Given the description of an element on the screen output the (x, y) to click on. 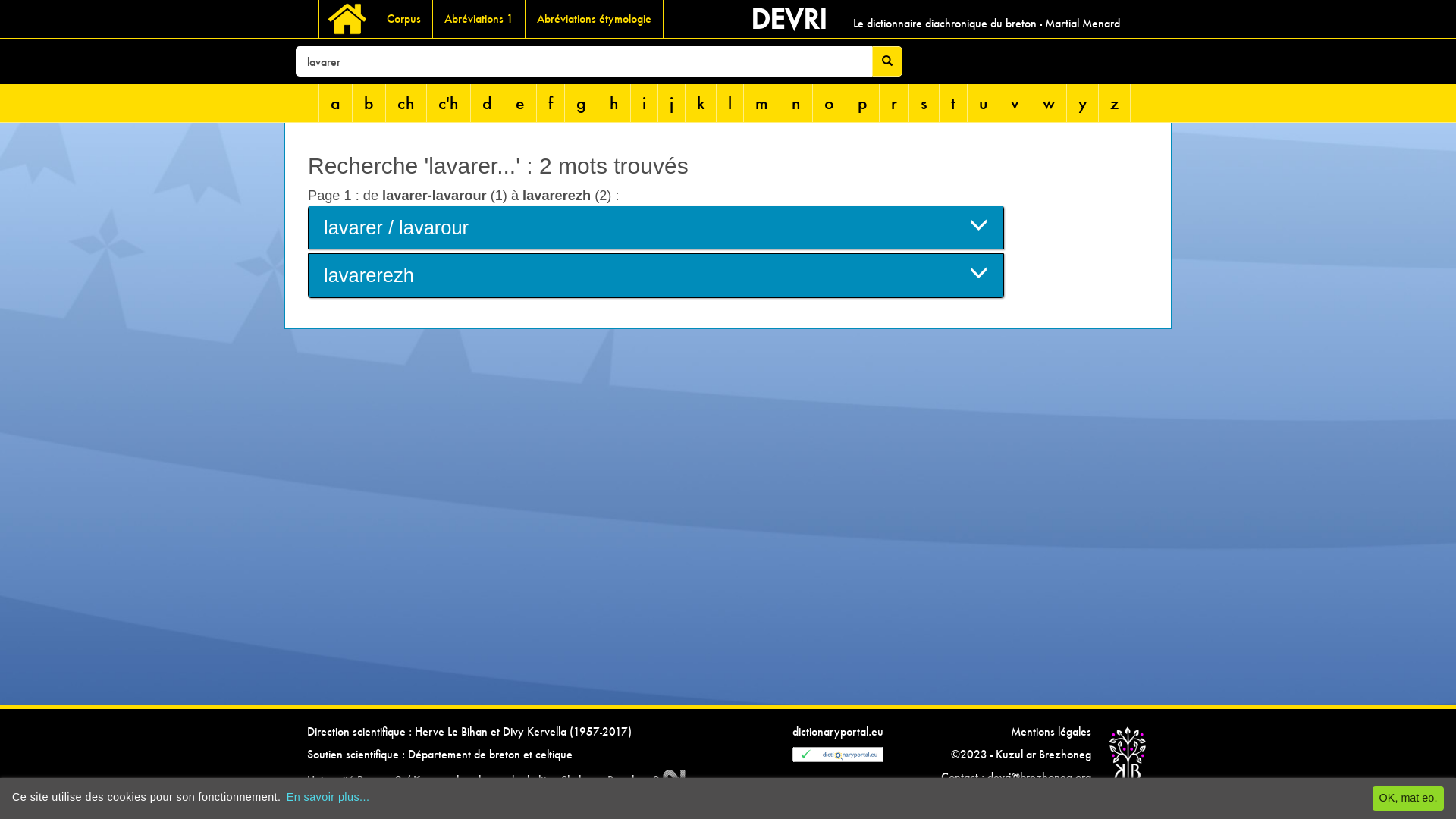
b Element type: text (368, 103)
lavarer / lavarour Element type: text (655, 227)
f Element type: text (550, 103)
p Element type: text (862, 103)
t Element type: text (953, 103)
v Element type: text (1015, 103)
d Element type: text (487, 103)
c'h Element type: text (448, 103)
g Element type: text (581, 103)
n Element type: text (796, 103)
lavarerezh Element type: text (655, 275)
Corpus Element type: text (404, 18)
j Element type: text (671, 103)
u Element type: text (983, 103)
i Element type: text (644, 103)
k Element type: text (700, 103)
En savoir plus... Element type: text (328, 796)
m Element type: text (761, 103)
dictionaryportal.eu Element type: text (837, 731)
z Element type: text (1114, 103)
r Element type: text (894, 103)
e Element type: text (520, 103)
h Element type: text (614, 103)
y Element type: text (1082, 103)
o Element type: text (829, 103)
ch Element type: text (405, 103)
OK, mat eo. Element type: text (1407, 798)
w Element type: text (1048, 103)
a Element type: text (335, 103)
s Element type: text (924, 103)
l Element type: text (729, 103)
